Given the description of an element on the screen output the (x, y) to click on. 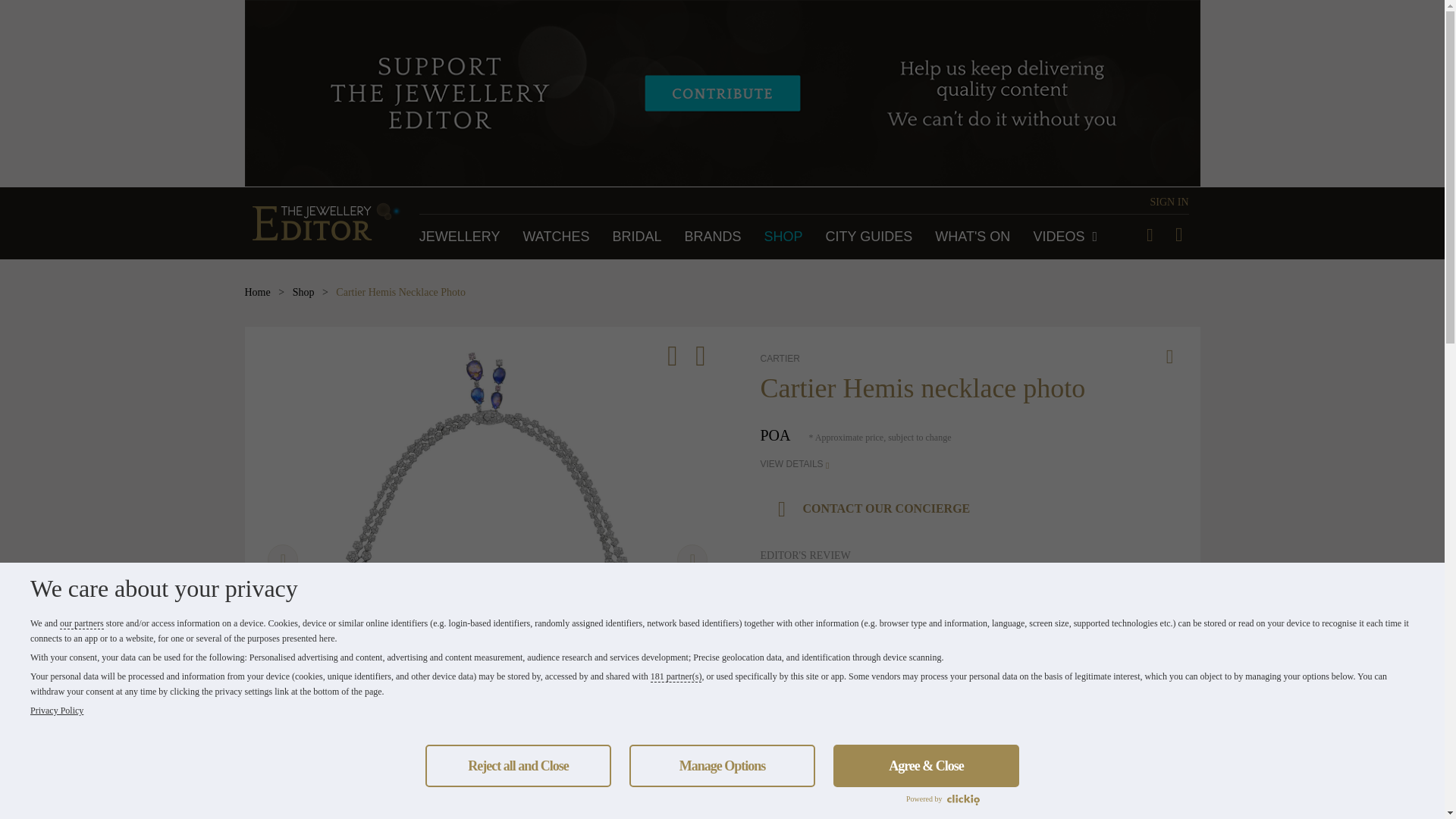
Go to City Guides (868, 236)
BRANDS (712, 236)
CITY GUIDES (868, 236)
VIDEOS   (1064, 236)
Go to What's On (972, 236)
WATCHES (555, 236)
Go to Bridal (636, 236)
Go to Jewellery (459, 236)
SHOP (783, 236)
BRIDAL (636, 236)
